Given the description of an element on the screen output the (x, y) to click on. 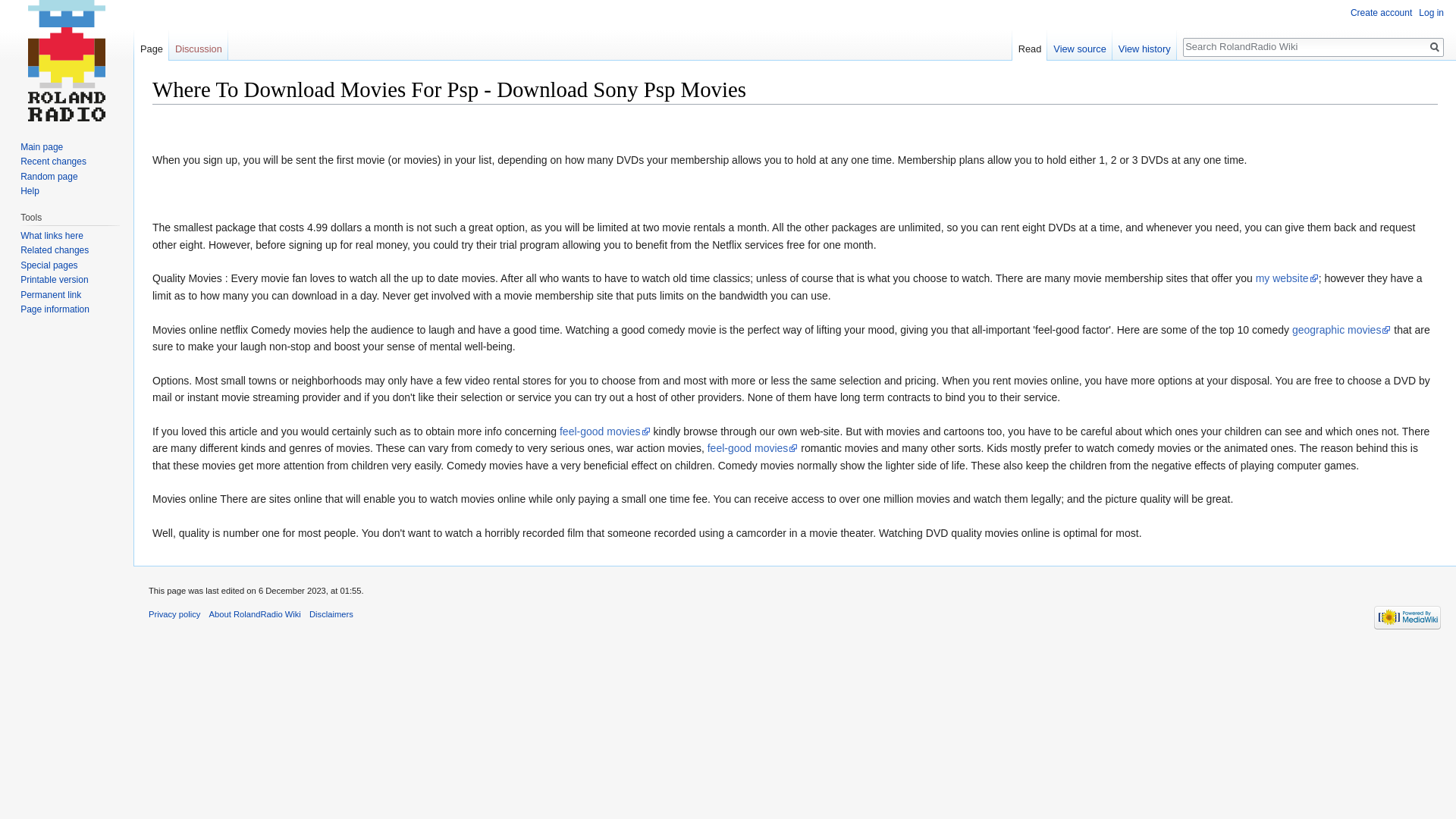
Go (1434, 46)
Disclaimers (330, 614)
Search (1434, 46)
Help (29, 190)
Go (1434, 46)
View history (1144, 45)
Search (1434, 46)
Page (150, 45)
Search (1434, 46)
Search the pages for this text (1434, 46)
Privacy policy (174, 614)
Related changes (54, 249)
my website (1287, 277)
About RolandRadio Wiki (255, 614)
